Given the description of an element on the screen output the (x, y) to click on. 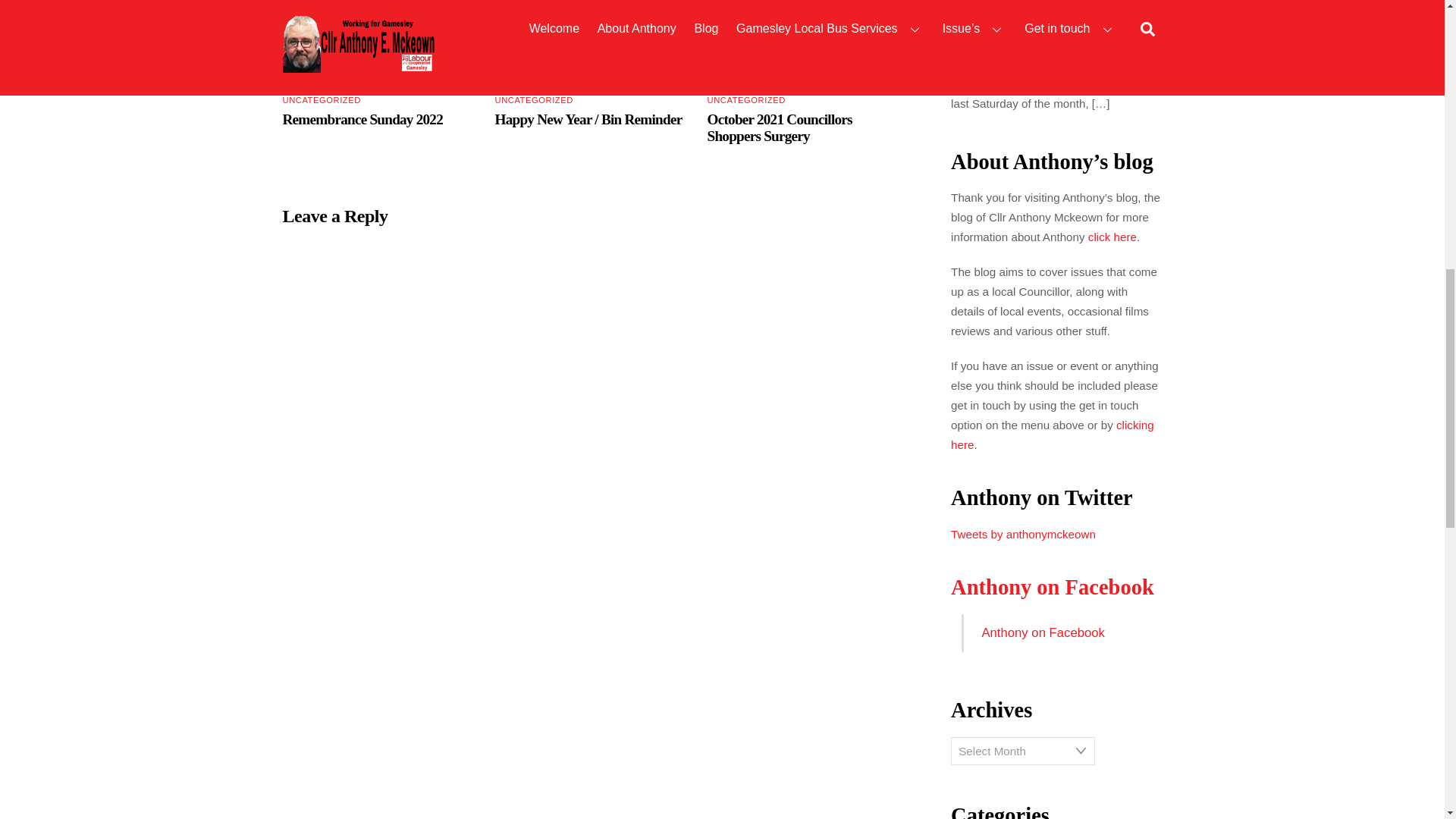
UNCATEGORIZED (320, 99)
Remembrance Sunday 2022 (362, 119)
Get in touch (1052, 434)
click here (1112, 236)
WhatsApp Image 2021-10-29 at 08.28.18 (807, 42)
